Given the description of an element on the screen output the (x, y) to click on. 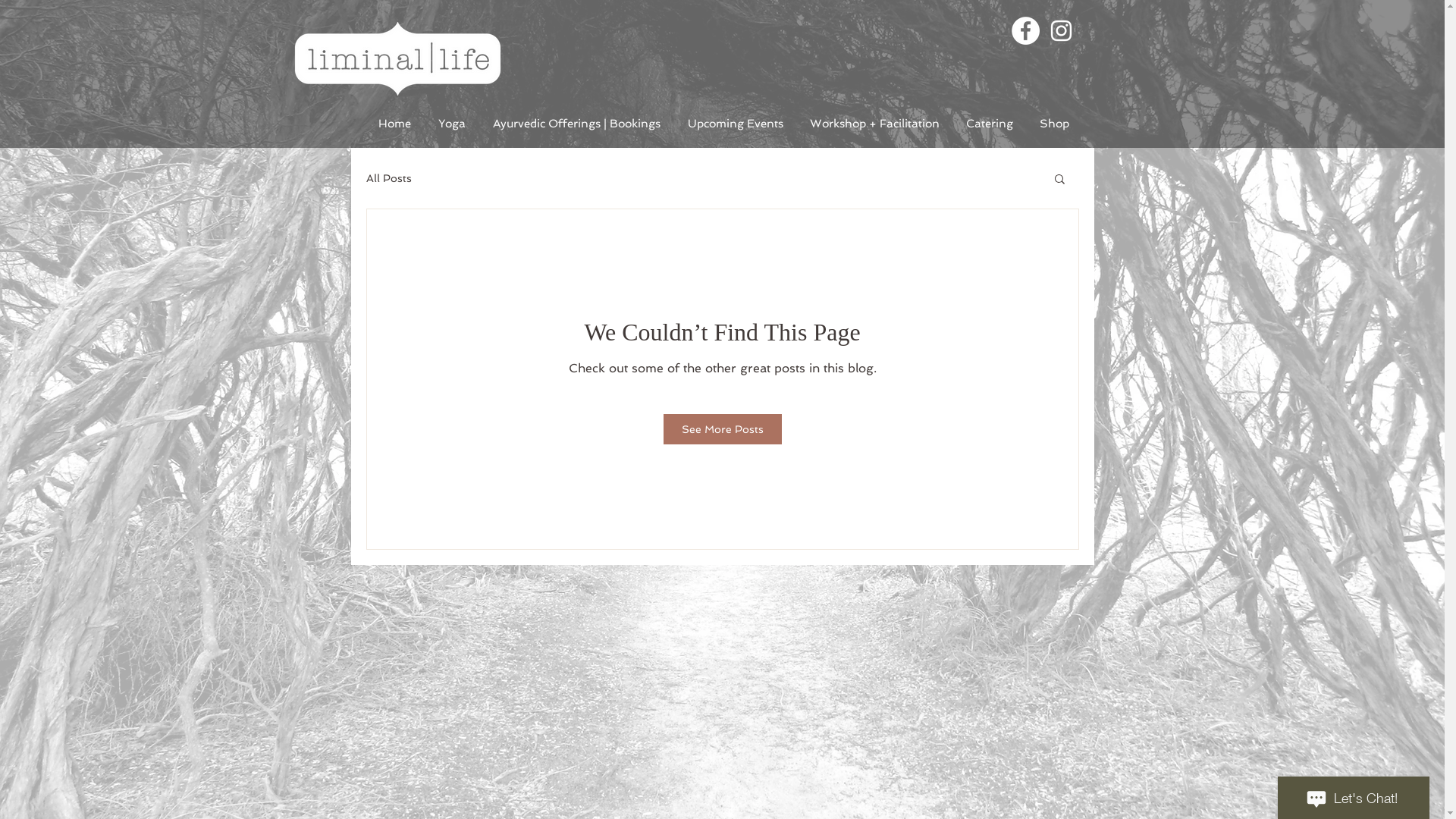
Catering Element type: text (989, 123)
Yoga Element type: text (451, 123)
Workshop + Facilitation Element type: text (874, 123)
See More Posts Element type: text (721, 429)
Ayurvedic Offerings | Bookings Element type: text (576, 123)
Upcoming Events Element type: text (734, 123)
Home Element type: text (393, 123)
Shop Element type: text (1054, 123)
All Posts Element type: text (388, 178)
